Given the description of an element on the screen output the (x, y) to click on. 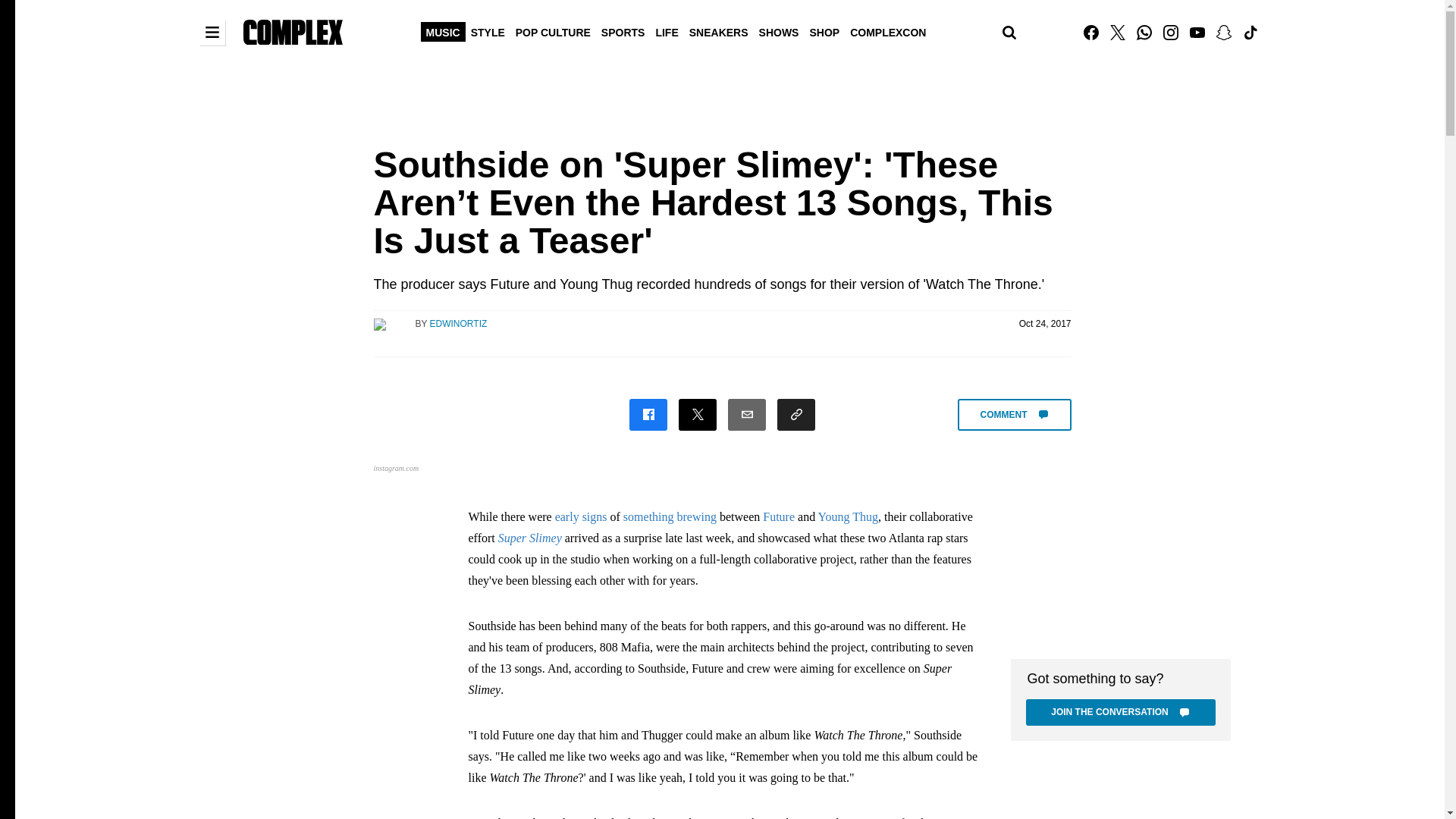
SPORTS (622, 30)
COMPLEXCON (887, 30)
POP CULTURE (553, 30)
SHOWS (779, 30)
LIFE (665, 30)
SHOP (823, 30)
SNEAKERS (719, 30)
MUSIC (442, 30)
STYLE (488, 30)
